Given the description of an element on the screen output the (x, y) to click on. 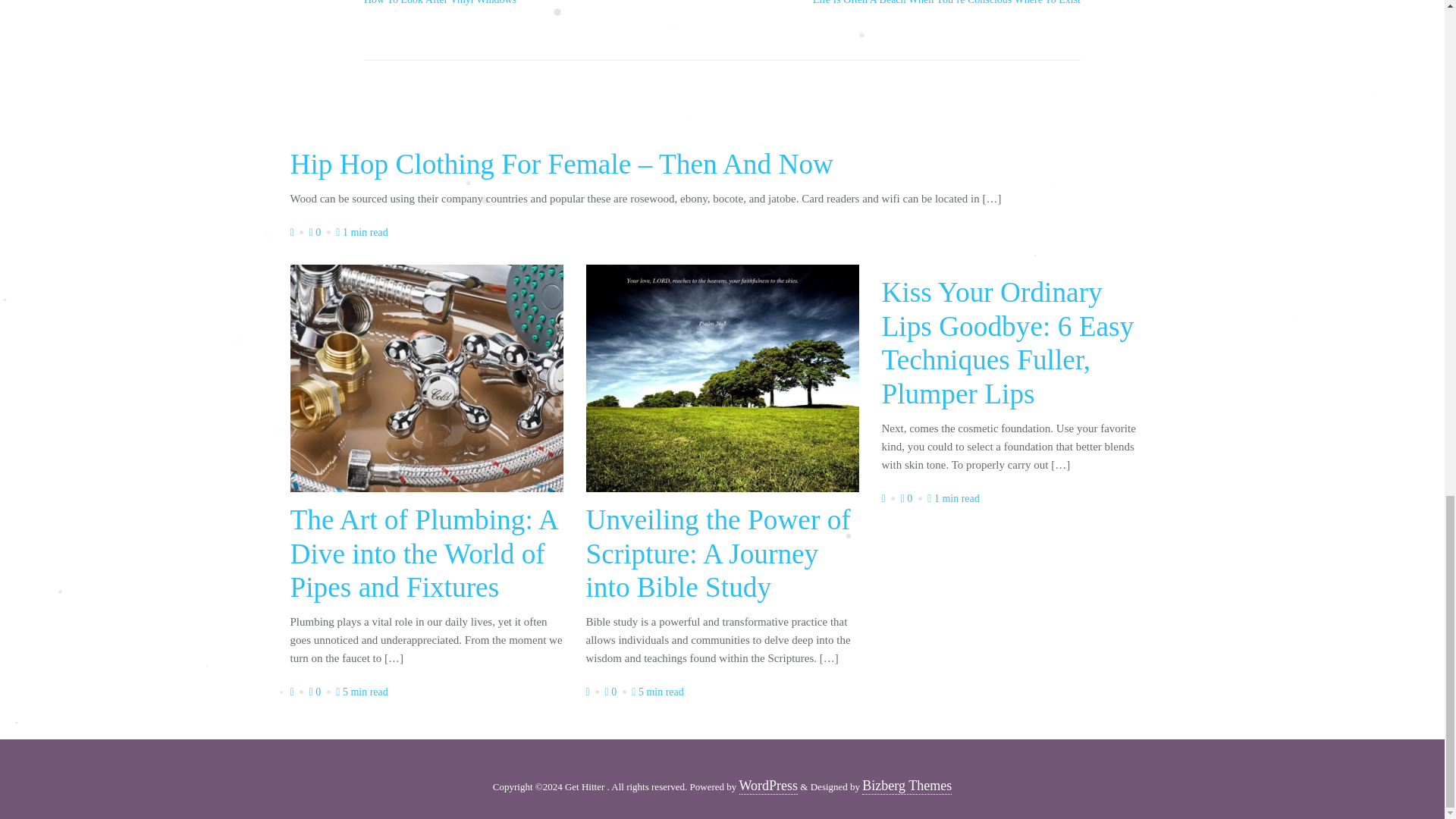
Unveiling the Power of Scripture: A Journey into Bible Study (717, 556)
0 (320, 691)
0 (535, 3)
WordPress (912, 498)
Bizberg Themes (768, 785)
0 (906, 785)
5 min read (616, 691)
0 (657, 691)
1 min read (320, 232)
1 min read (953, 498)
5 min read (362, 232)
